Given the description of an element on the screen output the (x, y) to click on. 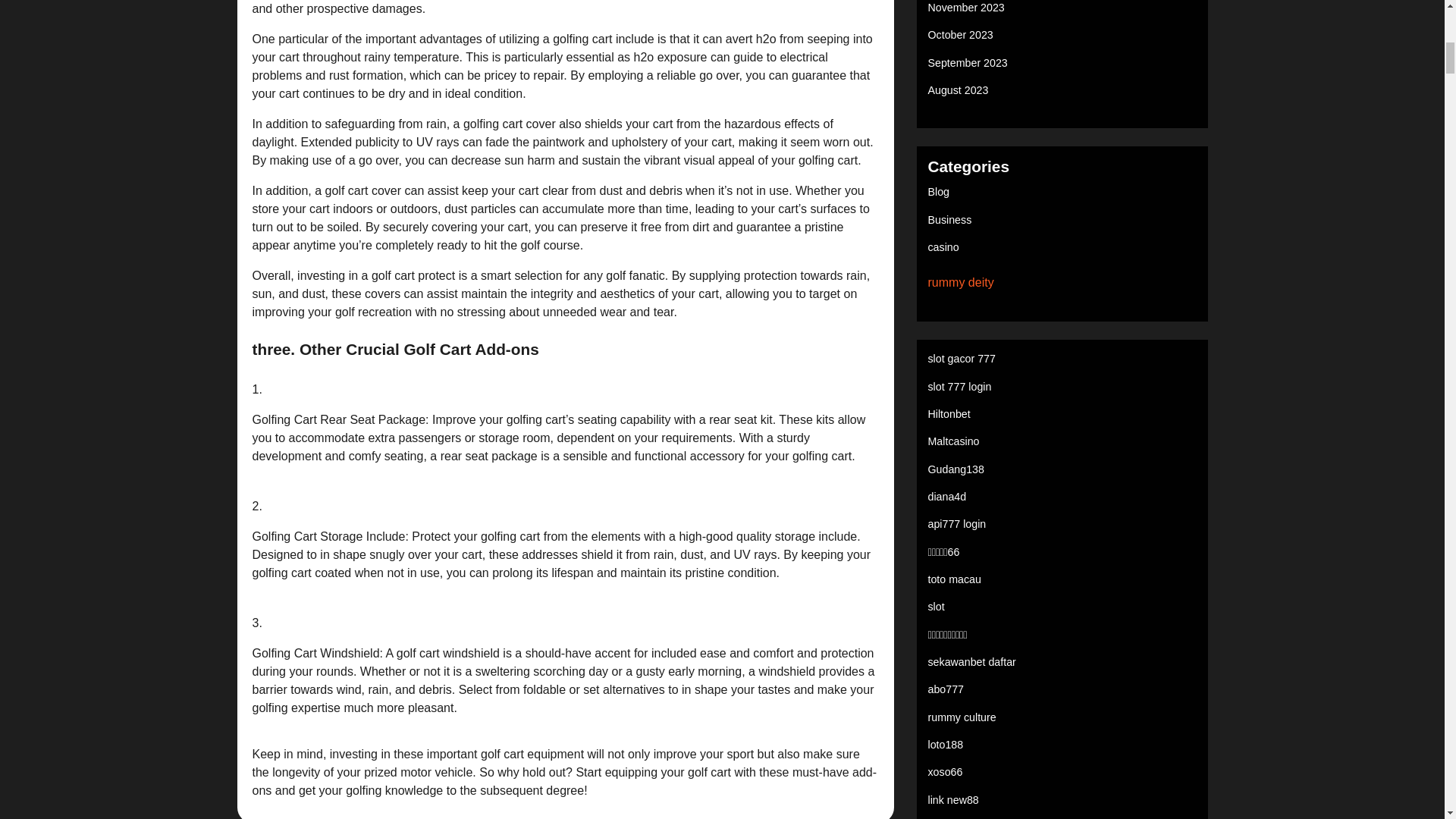
rummy deity (961, 282)
slot gacor 777 (961, 358)
November 2023 (966, 7)
slot 777 login (959, 386)
October 2023 (960, 34)
August 2023 (958, 90)
Business (950, 219)
casino (943, 246)
September 2023 (967, 62)
Blog (939, 191)
